Given the description of an element on the screen output the (x, y) to click on. 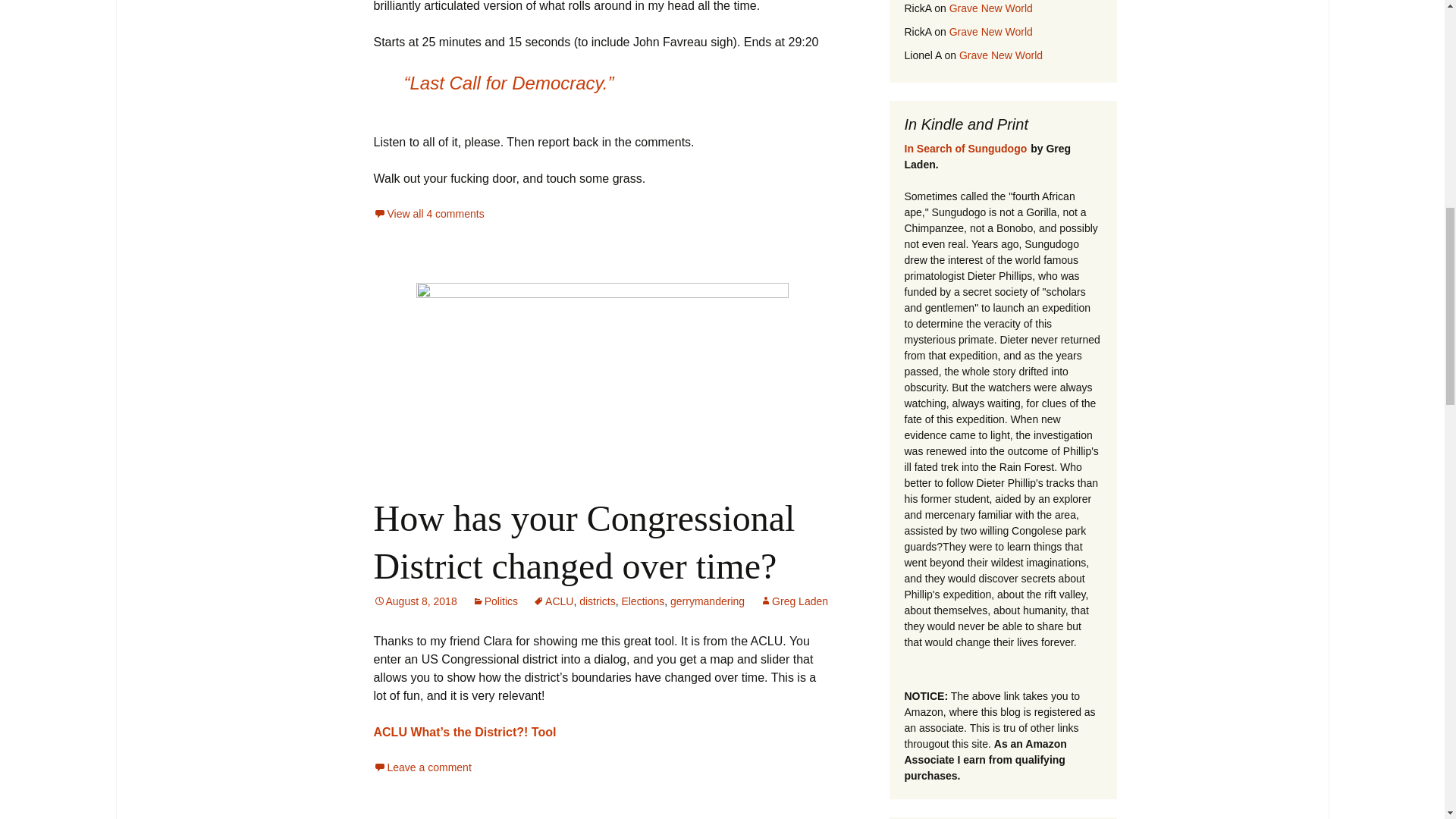
How has your Congressional District changed over time? (583, 541)
Leave a comment (421, 767)
districts (596, 601)
August 8, 2018 (414, 601)
ACLU (552, 601)
View all 4 comments (427, 214)
Greg Laden (794, 601)
Politics (494, 601)
View all posts by Greg Laden (794, 601)
